Given the description of an element on the screen output the (x, y) to click on. 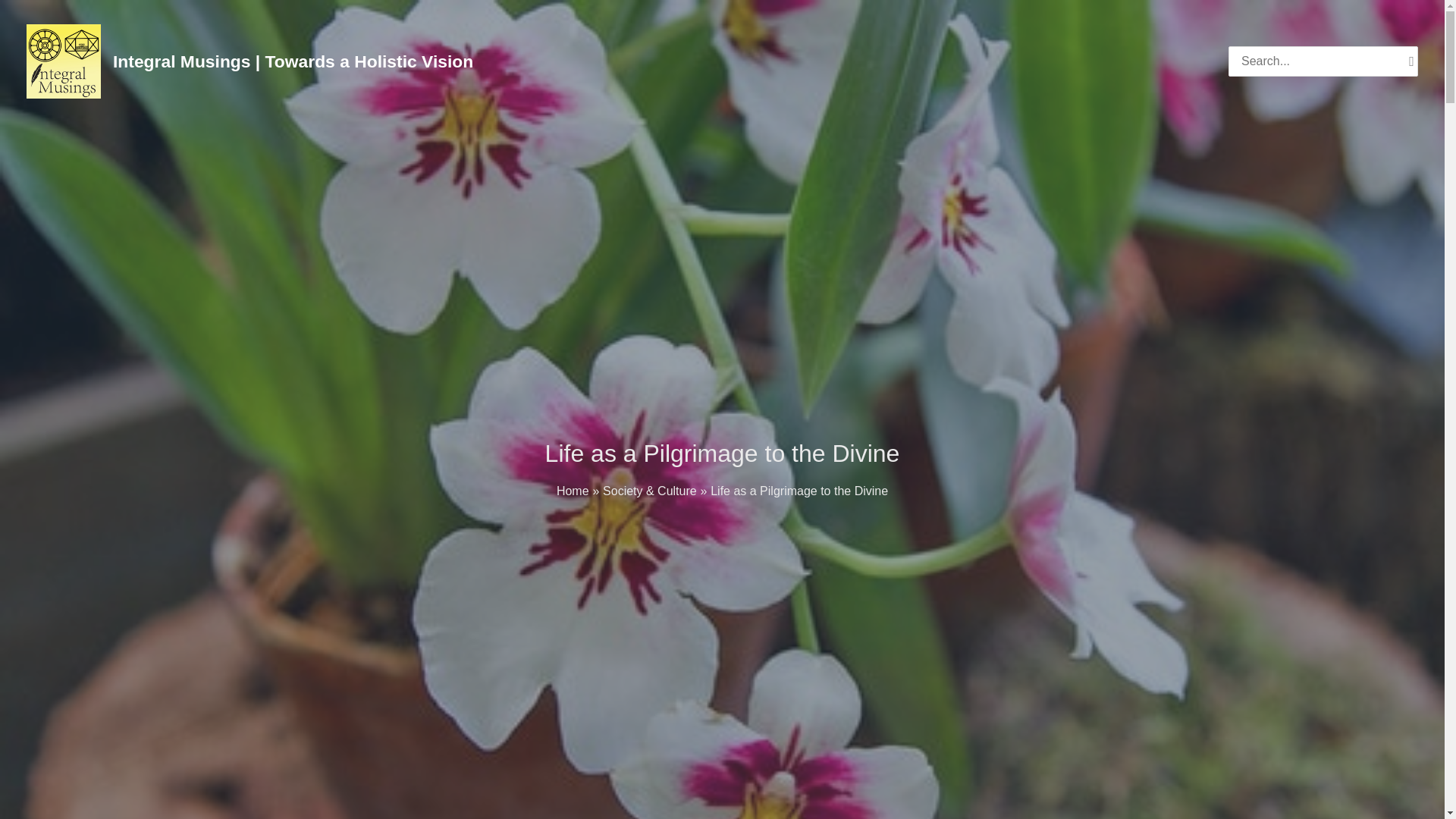
Search (1411, 60)
Home (572, 490)
